Given the description of an element on the screen output the (x, y) to click on. 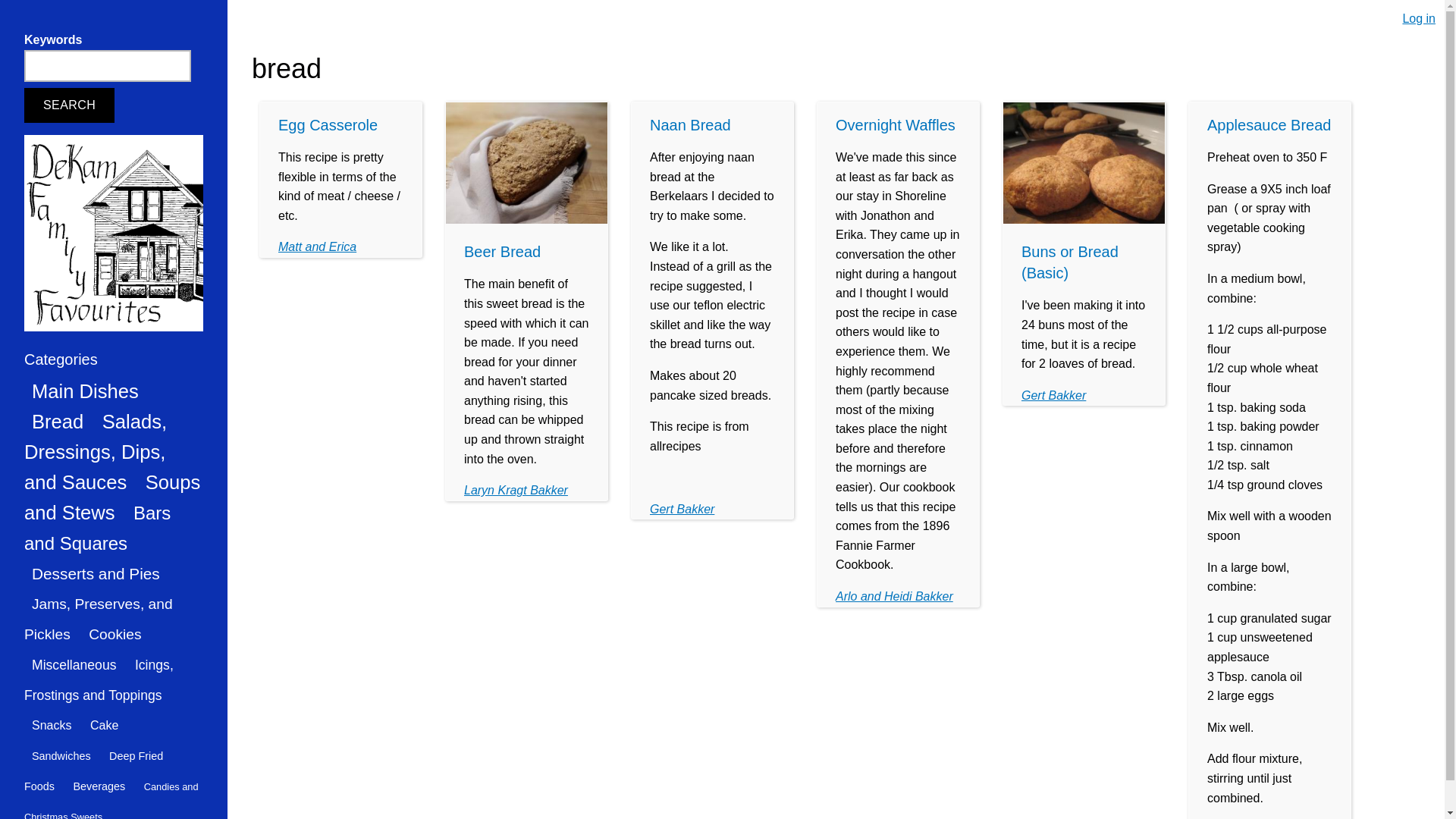
Salads, Dressings, Dips, and Sauces (95, 451)
Bread (57, 420)
Jams, Preserves, and Pickles (98, 618)
Miscellaneous (74, 664)
Sandwiches (61, 755)
Desserts and Pies (95, 573)
Cookies (114, 634)
Main Dishes (85, 390)
Soups and Stews (112, 497)
Search (69, 104)
Icings, Frostings and Toppings (98, 679)
Search (69, 104)
Candies and Christmas Sweets (111, 798)
Bars and Squares (97, 527)
